Given the description of an element on the screen output the (x, y) to click on. 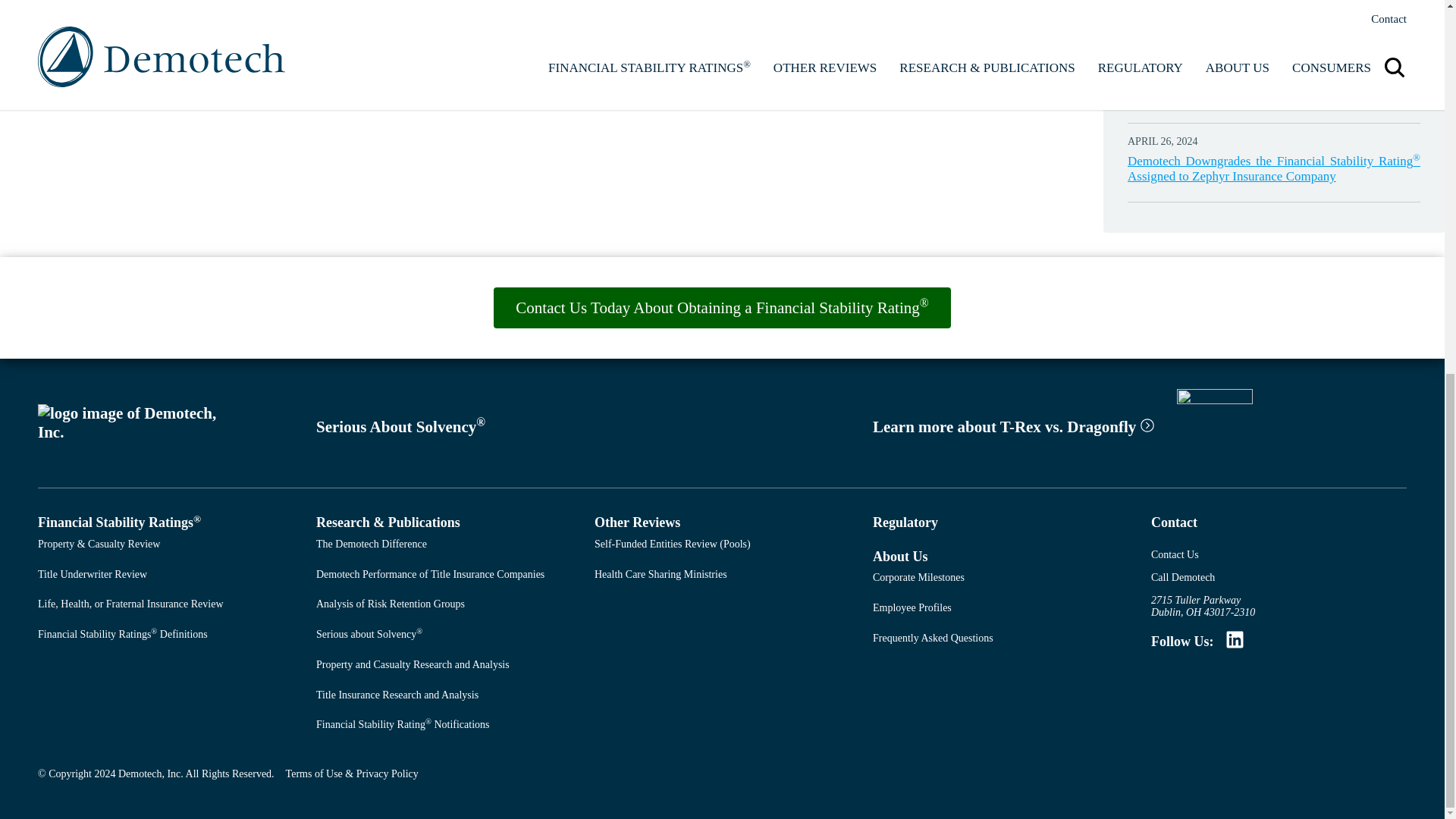
Visit Us On LinkedIn (1234, 644)
